Given the description of an element on the screen output the (x, y) to click on. 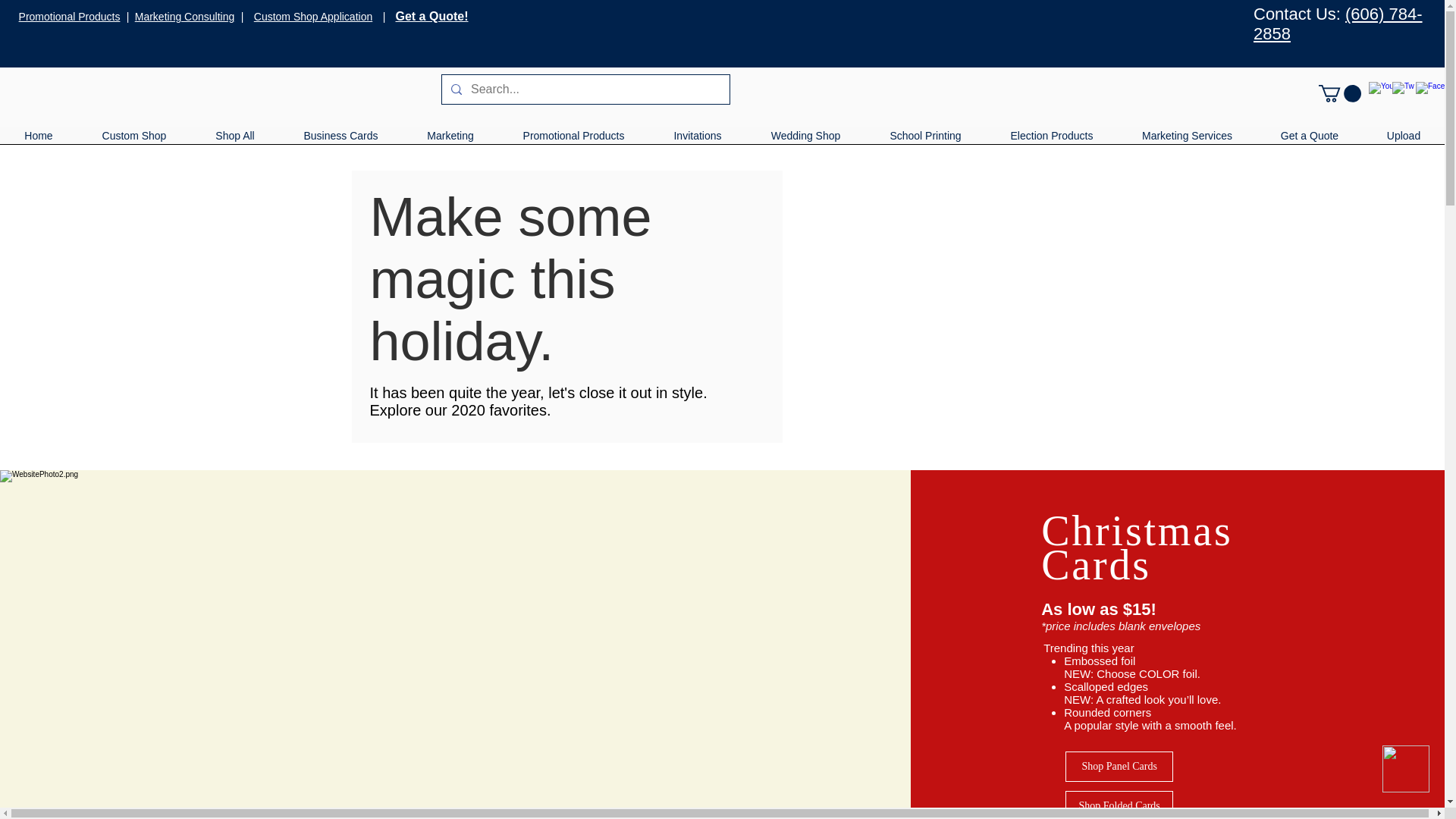
Business Cards (334, 140)
Election Products (1050, 140)
Marketing Consulting (184, 16)
Shop Folded Cards (1119, 805)
Shop All (231, 140)
Marketing (443, 140)
Get a Quote (1308, 140)
School Printing (922, 140)
Invitations (694, 140)
Custom Shop (131, 140)
